Given the description of an element on the screen output the (x, y) to click on. 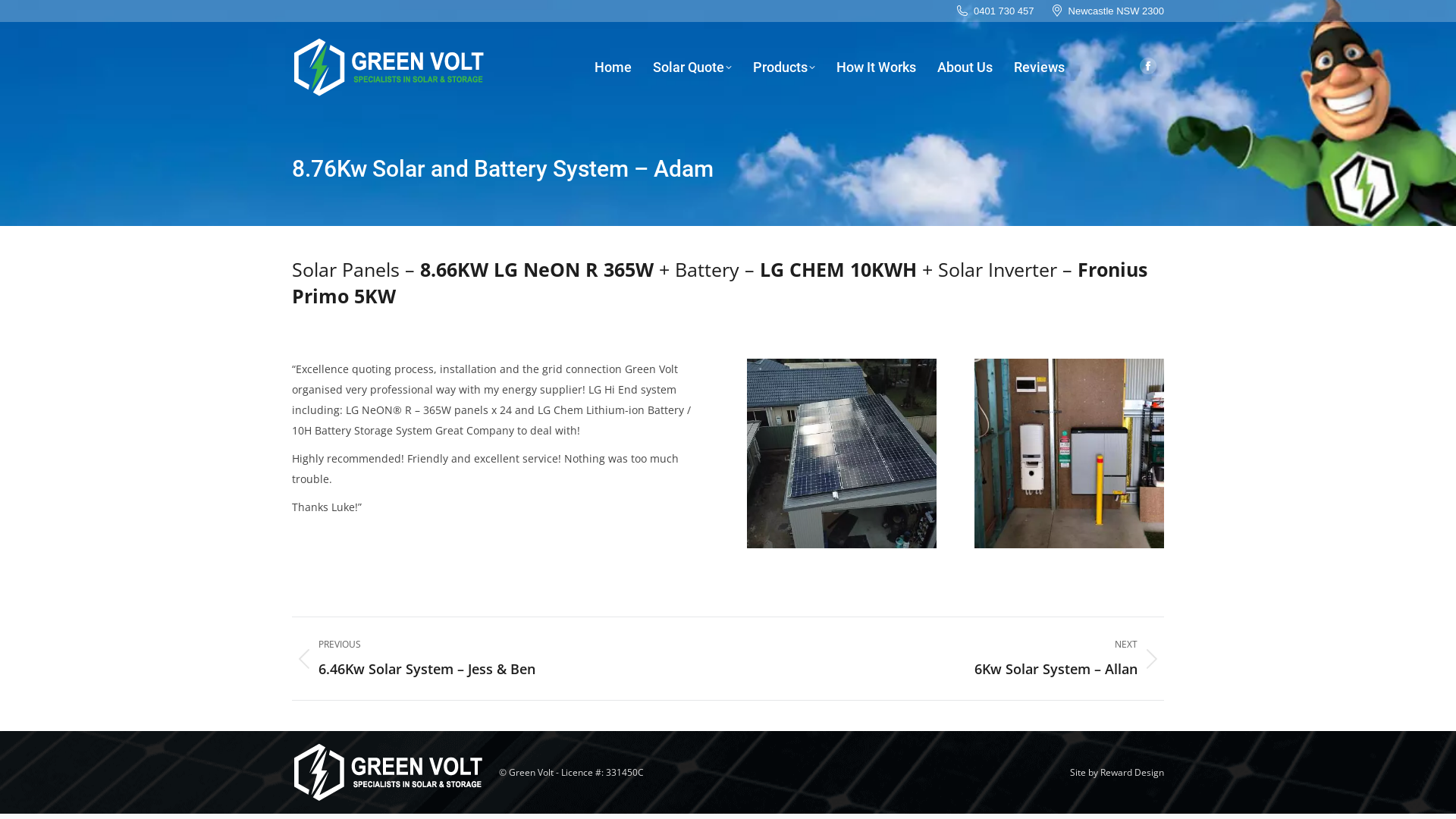
Home Element type: text (612, 67)
About Us Element type: text (964, 67)
Solar Quote Element type: text (691, 67)
Products Element type: text (784, 67)
0401 730 457 Element type: text (994, 10)
Site by Reward Design Element type: text (1117, 771)
How It Works Element type: text (876, 67)
Reviews Element type: text (1038, 67)
Facebook page opens in new window Element type: text (1147, 65)
